Given the description of an element on the screen output the (x, y) to click on. 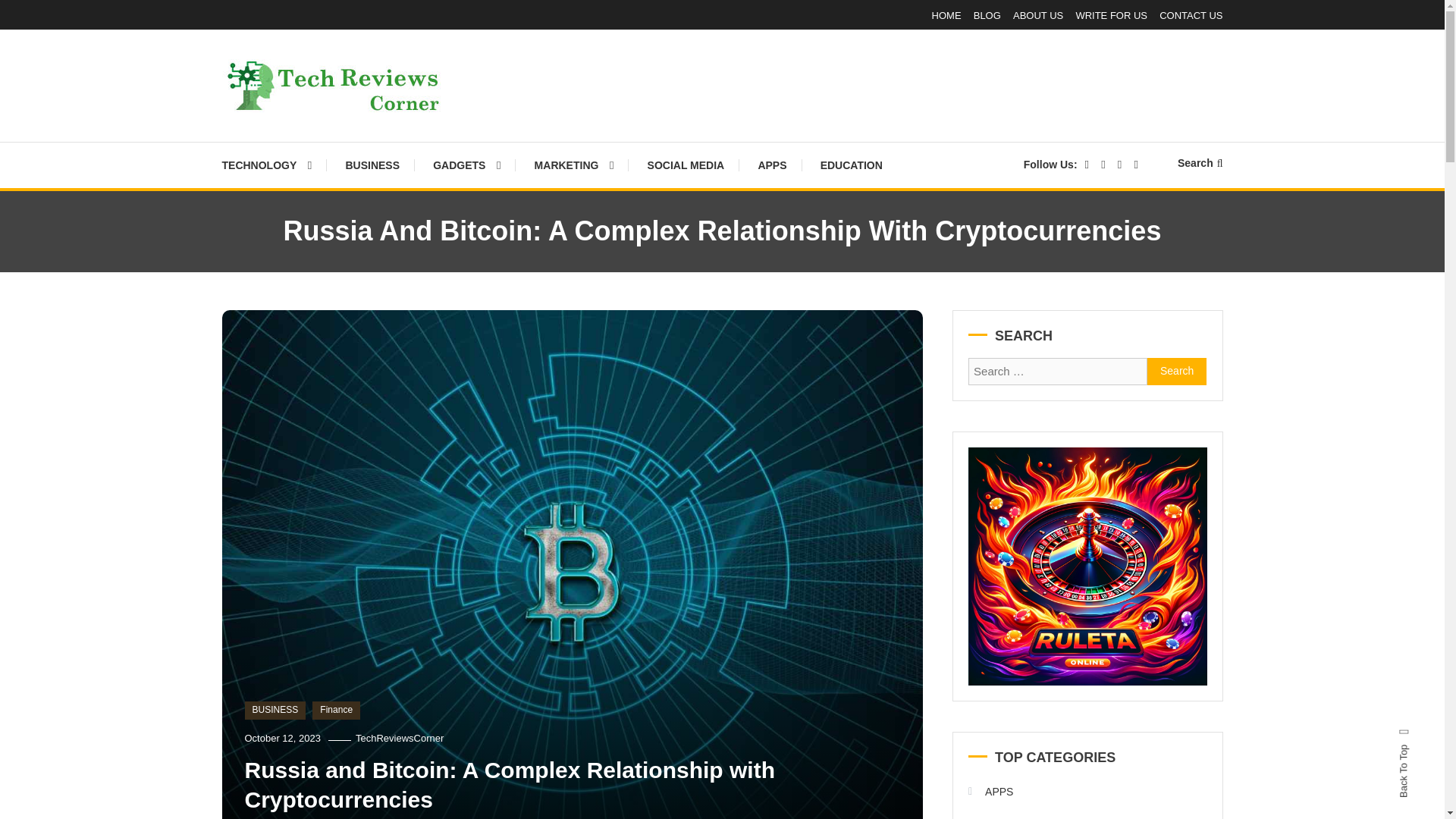
EDUCATION (851, 165)
SOCIAL MEDIA (685, 165)
TechReviewsCorner (399, 737)
Search (768, 432)
CONTACT US (1190, 15)
October 12, 2023 (282, 737)
GADGETS (466, 165)
Search (1177, 370)
MARKETING (573, 165)
BLOG (987, 15)
BUSINESS (372, 165)
TechReviewsCorner (351, 132)
HOME (945, 15)
Finance (336, 710)
